Given the description of an element on the screen output the (x, y) to click on. 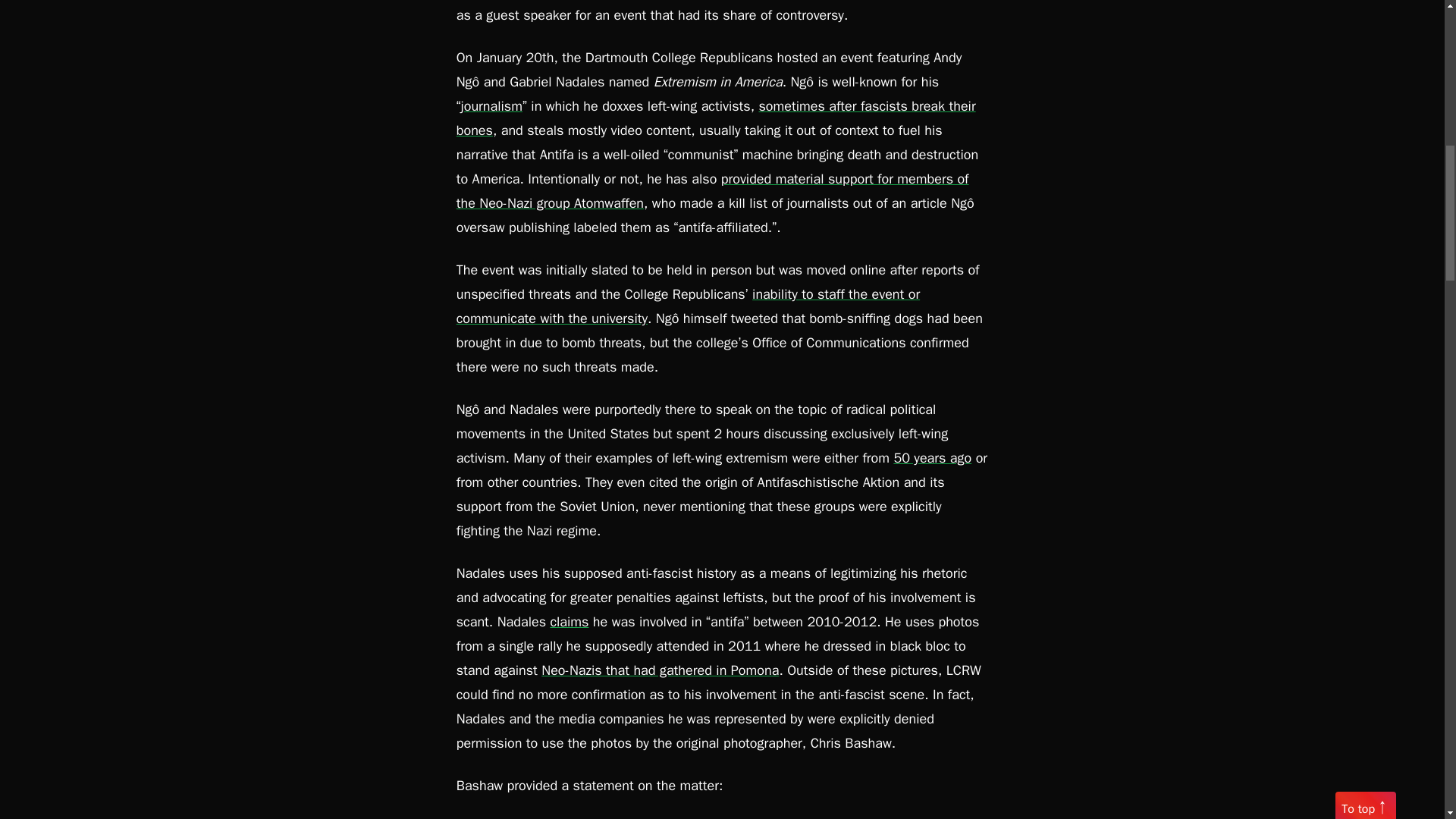
sometimes after fascists break their bones (716, 117)
50 years ago (932, 457)
journalism (491, 105)
claims (569, 621)
Neo-Nazis that had gathered in Pomona (659, 669)
